Given the description of an element on the screen output the (x, y) to click on. 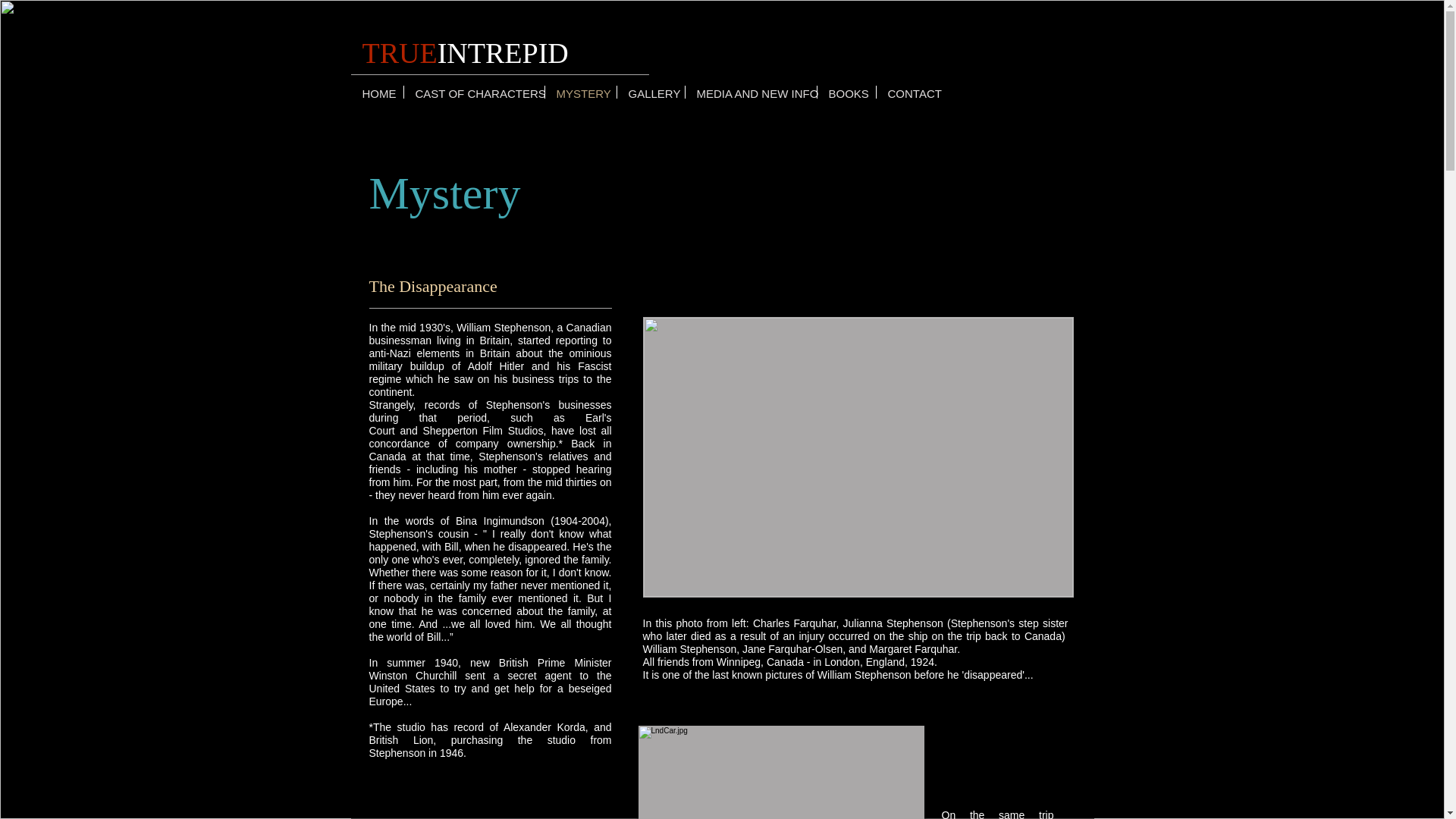
MEDIA AND NEW INFO (750, 91)
CAST OF CHARACTERS (473, 91)
Shepperton Film Studios (482, 430)
GALLERY (650, 91)
CONTACT (912, 91)
BOOKS (846, 91)
London2.jpg (858, 456)
Earl's Court (489, 423)
HOME (376, 91)
TRUEINTREPID (465, 52)
